Given the description of an element on the screen output the (x, y) to click on. 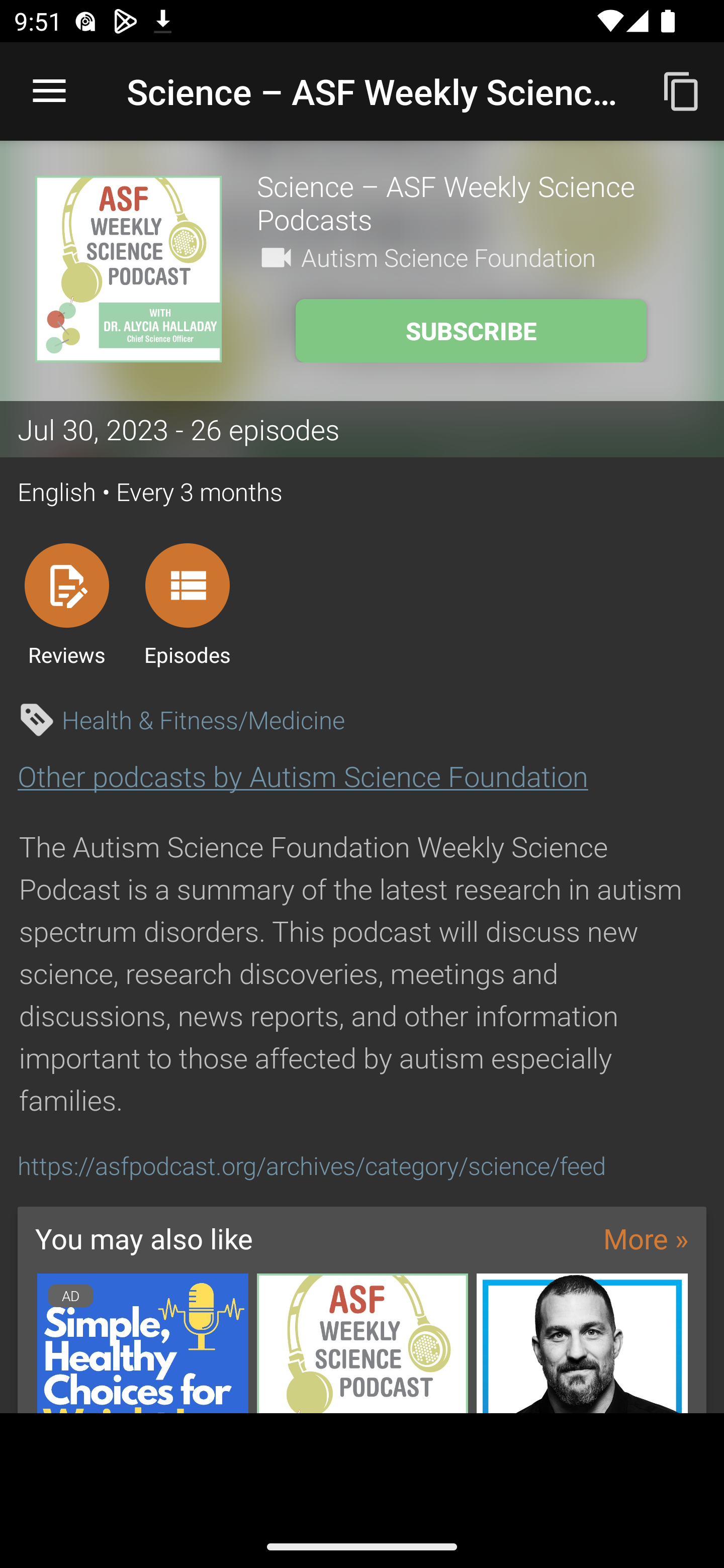
Open navigation sidebar (49, 91)
Copy feed url to clipboard (681, 90)
Science – ASF Weekly Science Podcasts (472, 202)
SUBSCRIBE (470, 330)
Reviews (66, 604)
Episodes (187, 604)
Other podcasts by Autism Science Foundation (302, 775)
More » (645, 1238)
AD (142, 1342)
